Given the description of an element on the screen output the (x, y) to click on. 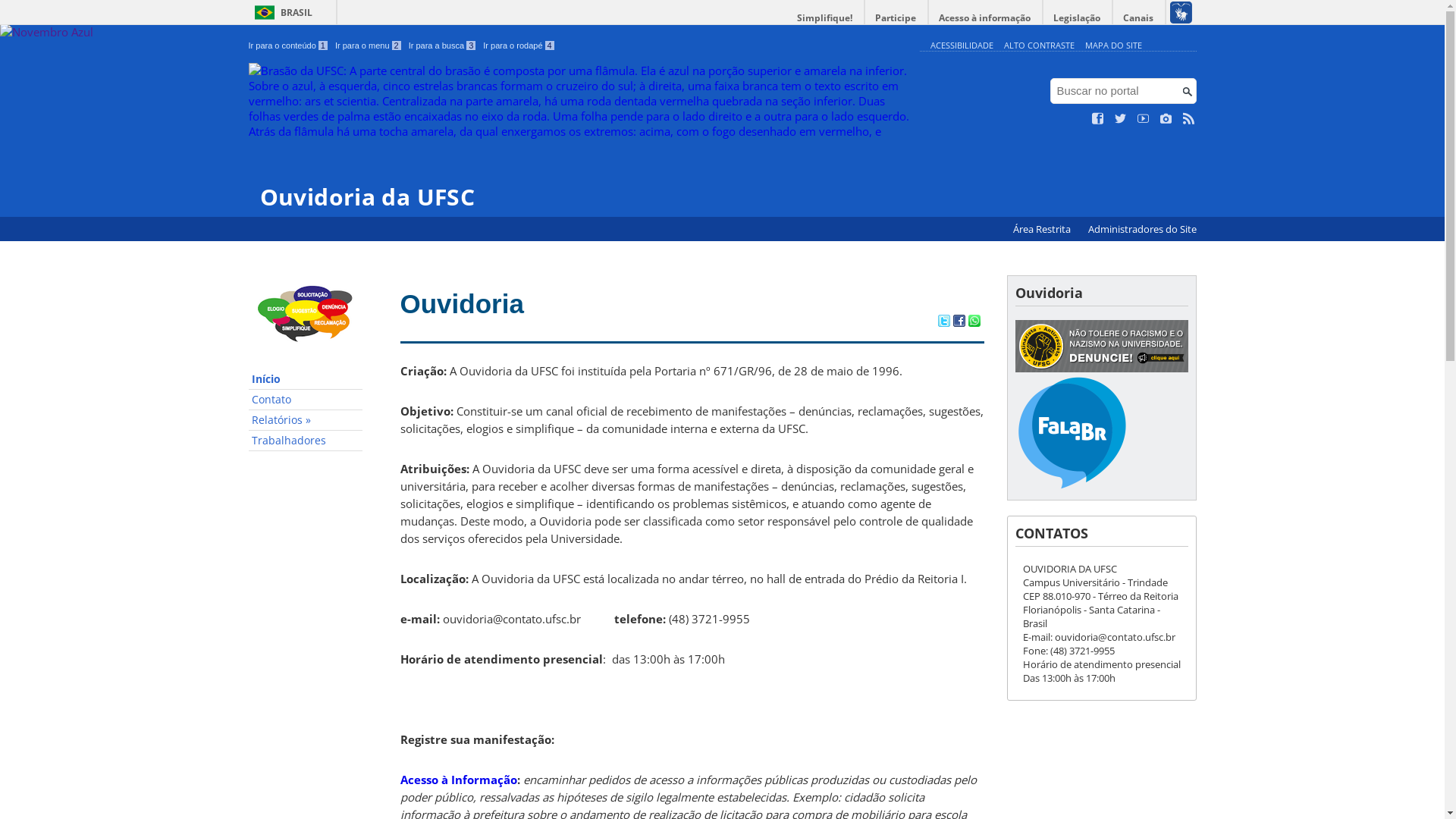
Canais Element type: text (1138, 18)
Curta no Facebook Element type: hover (1098, 118)
Administradores do Site Element type: text (1141, 228)
Veja no Instagram Element type: hover (1166, 118)
Ir para a busca 3 Element type: text (442, 45)
Compartilhar no Twitter Element type: hover (943, 321)
Compartilhar no Facebook Element type: hover (958, 321)
Ouvidoria Element type: text (462, 303)
Siga no Twitter Element type: hover (1120, 118)
MAPA DO SITE Element type: text (1112, 44)
Novembro Azul Element type: hover (46, 87)
ACESSIBILIDADE Element type: text (960, 44)
Denuncie o racismo e o nazismo na UFSC. Element type: hover (1100, 367)
Ouvidoria da UFSC Element type: text (580, 135)
BRASIL Element type: text (280, 12)
Trabalhadores Element type: text (305, 440)
Simplifique! Element type: text (825, 18)
Ir para o menu 2 Element type: text (368, 45)
Contato Element type: text (305, 399)
ALTO CONTRASTE Element type: text (1039, 44)
Denuncie o racismo e o nazismo na UFSC. Element type: hover (1100, 346)
Participe Element type: text (895, 18)
Compartilhar no WhatsApp Element type: hover (973, 321)
